Given the description of an element on the screen output the (x, y) to click on. 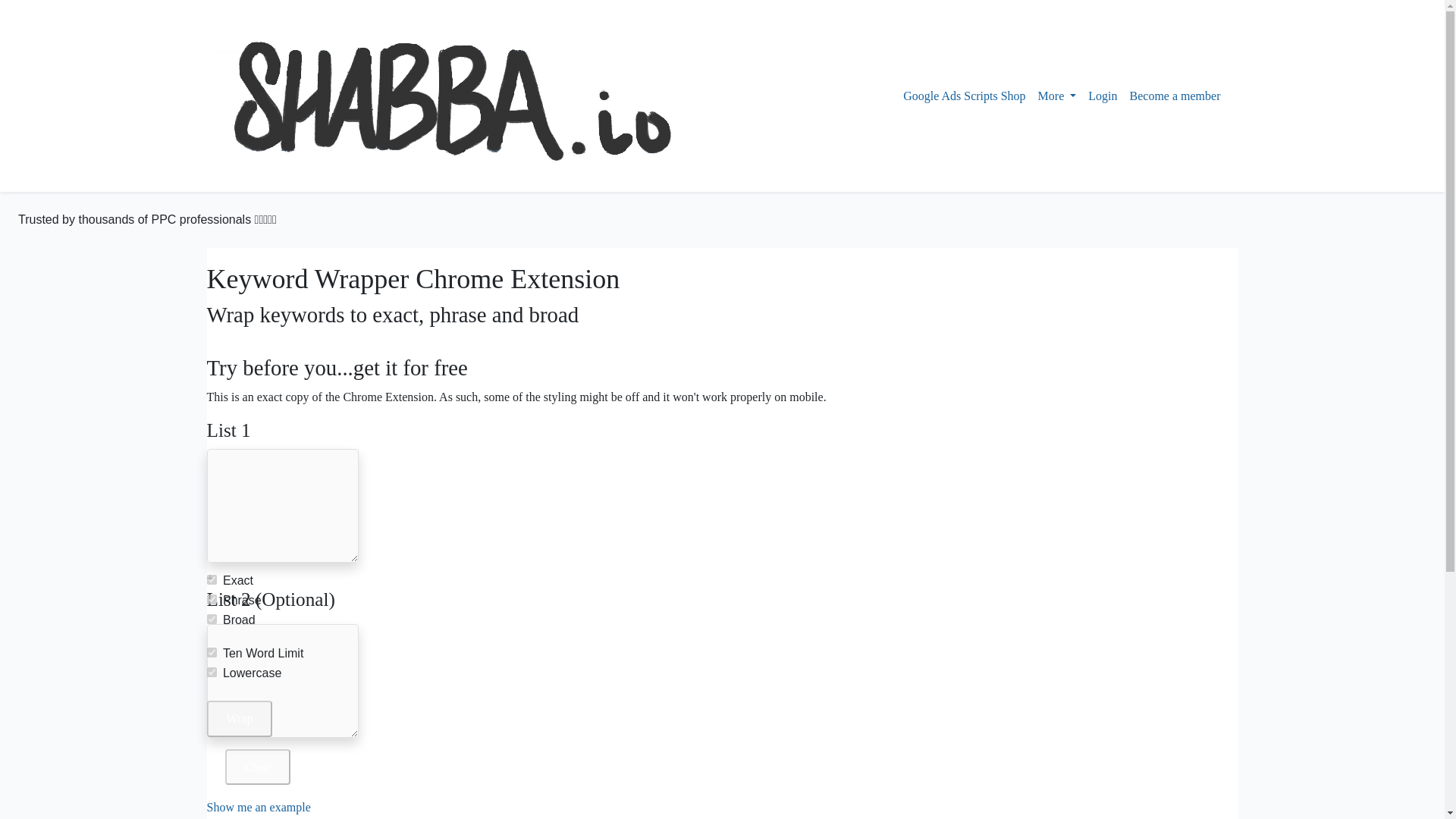
Wrap (239, 718)
Become a member (1175, 95)
Login (1101, 95)
Clear (256, 766)
ten-word-limit (210, 652)
lowercase (210, 672)
Show me an example (258, 807)
More (1057, 95)
Broad (210, 619)
Exact (210, 579)
Phrase (210, 599)
Google Ads Scripts Shop (963, 95)
